Given the description of an element on the screen output the (x, y) to click on. 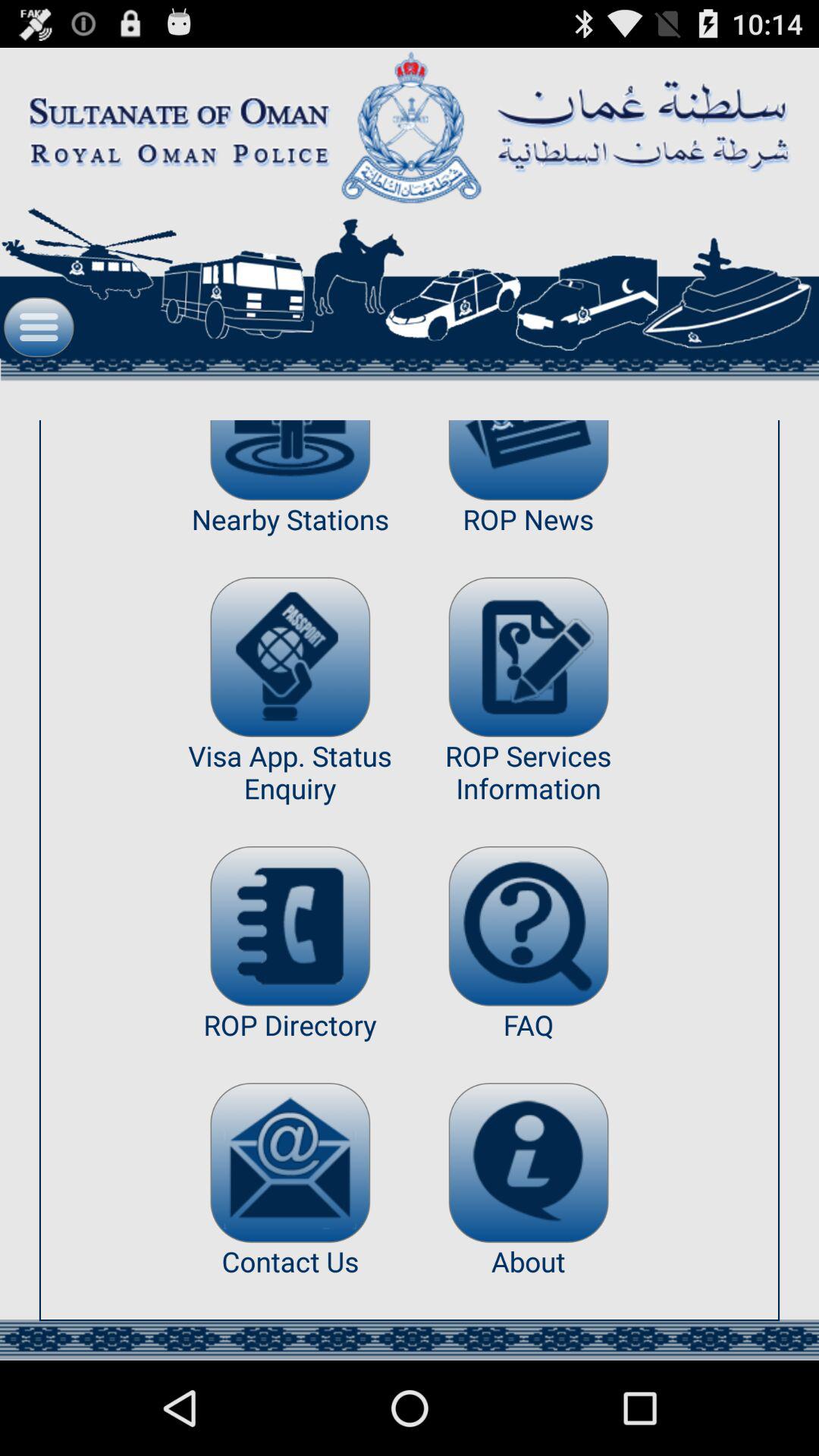
press the app to the right of the rop directory (528, 1162)
